Given the description of an element on the screen output the (x, y) to click on. 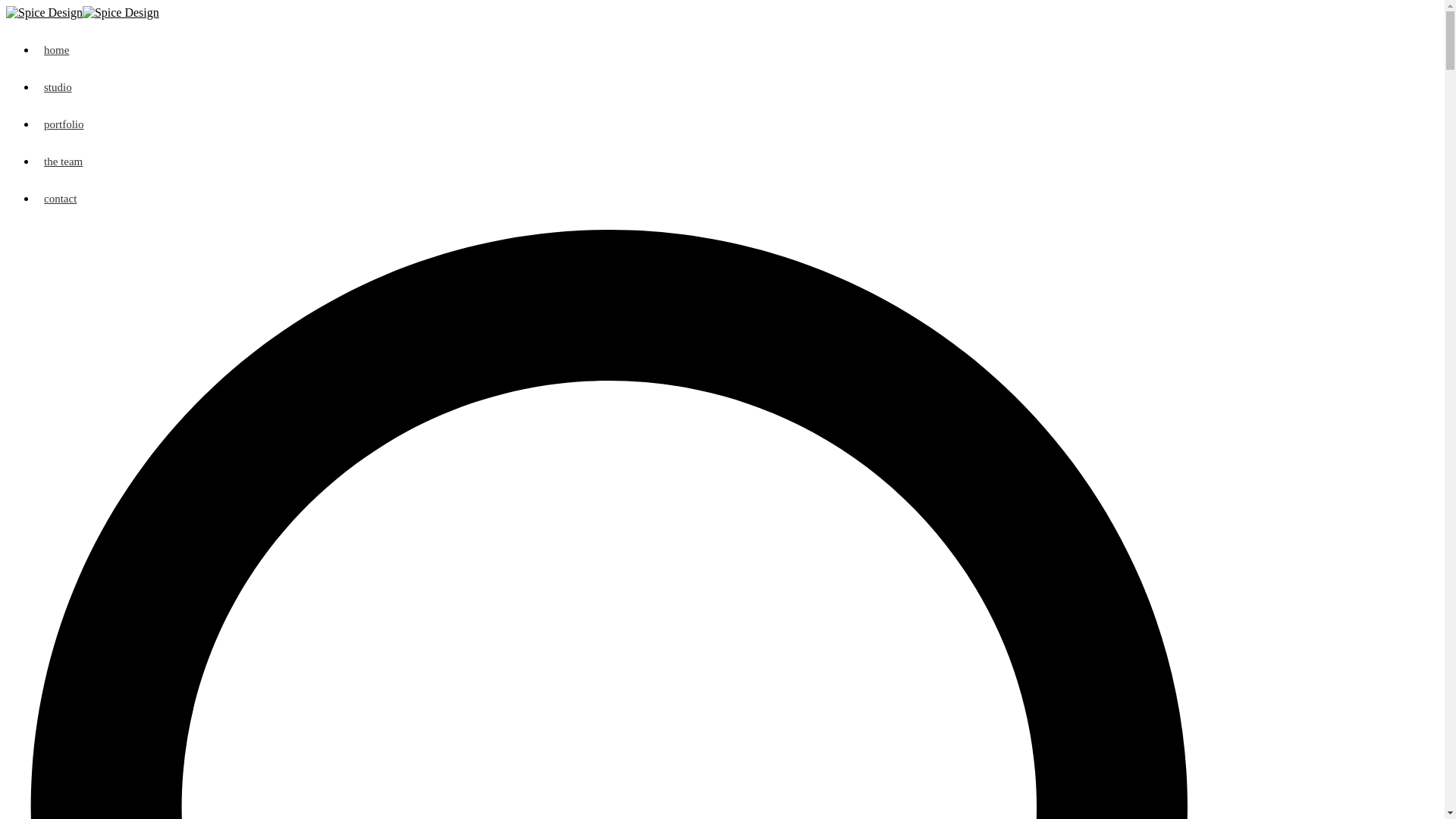
studio Element type: text (737, 87)
the team Element type: text (737, 161)
portfolio Element type: text (737, 124)
contact Element type: text (737, 198)
home Element type: text (737, 50)
